Given the description of an element on the screen output the (x, y) to click on. 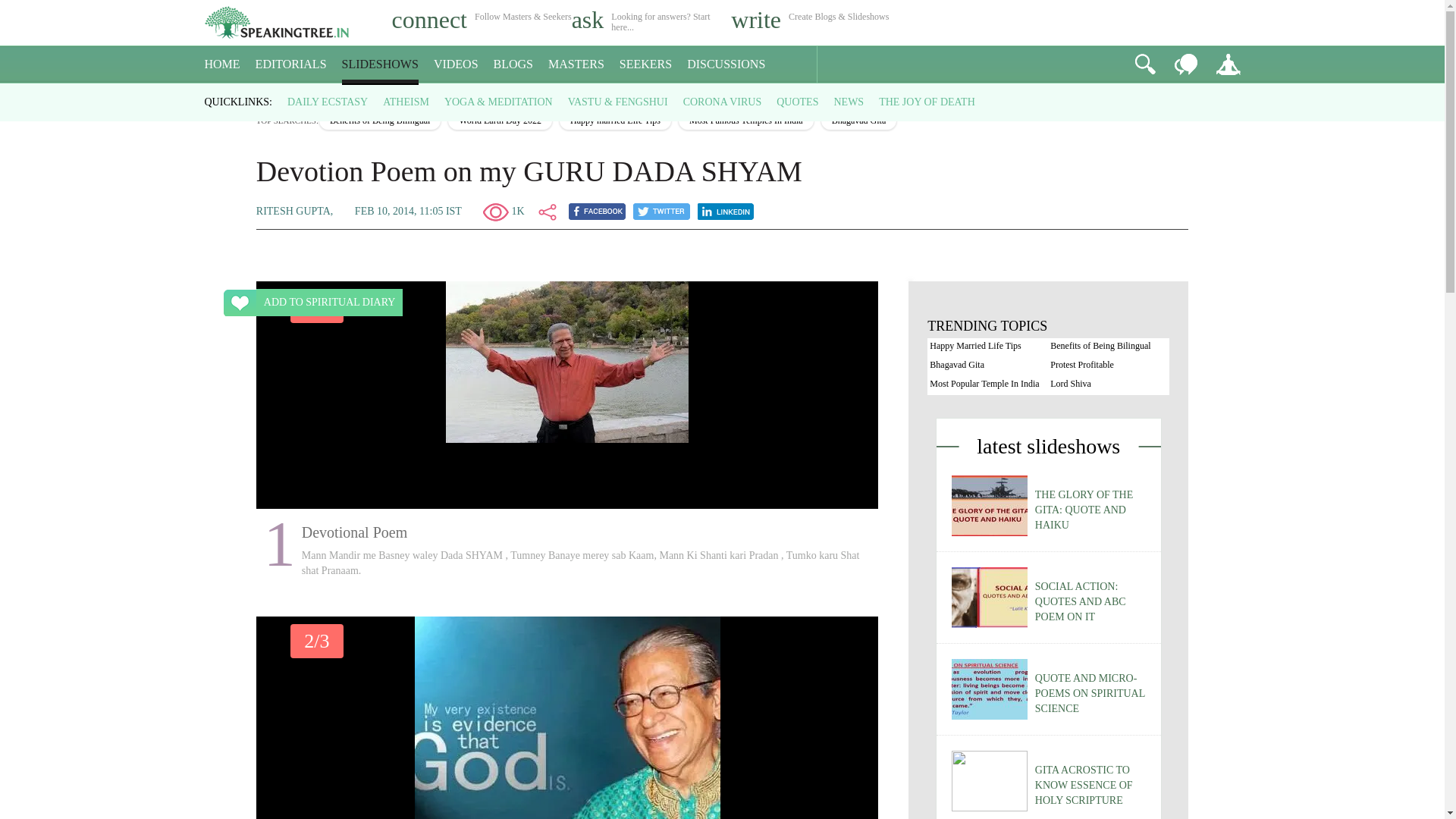
THE JOY OF DEATH (927, 101)
BLOGS (512, 64)
EDITORIALS (291, 64)
Slideshows (314, 96)
Share on Twitter (661, 211)
Devotional Poem (566, 362)
CORONA VIRUS (721, 101)
ATHEISM (405, 101)
VIDEOS (456, 64)
SEEKERS (645, 64)
